Given the description of an element on the screen output the (x, y) to click on. 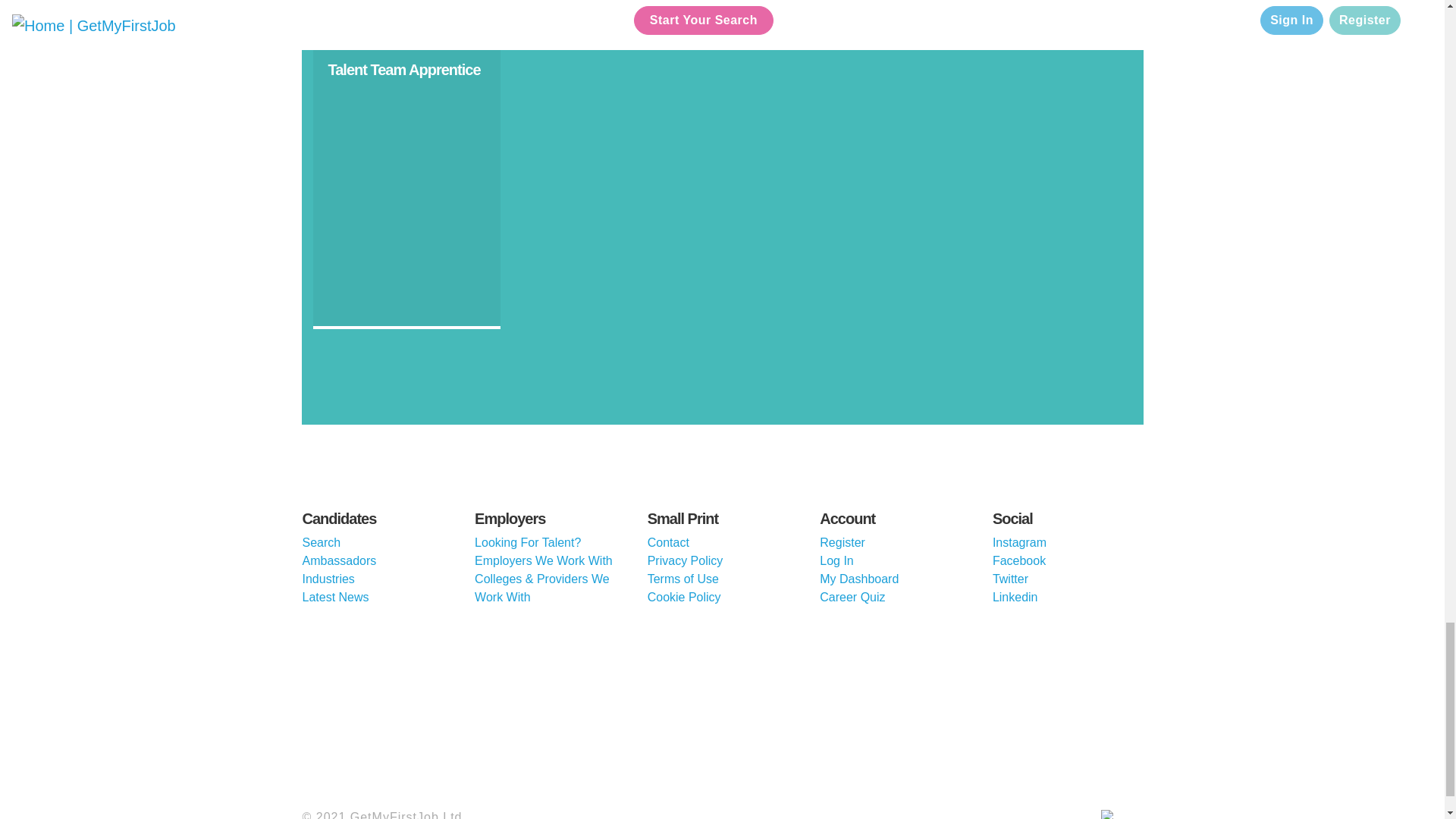
Industries (327, 578)
City and Guilds Group (362, 711)
Talent Team Apprentice (403, 69)
UKY (937, 711)
National Citizen Service (793, 711)
Enginuity (506, 711)
Ambassadors (338, 560)
Latest News (334, 596)
cse (1082, 711)
Employers We Work With (543, 560)
